Given the description of an element on the screen output the (x, y) to click on. 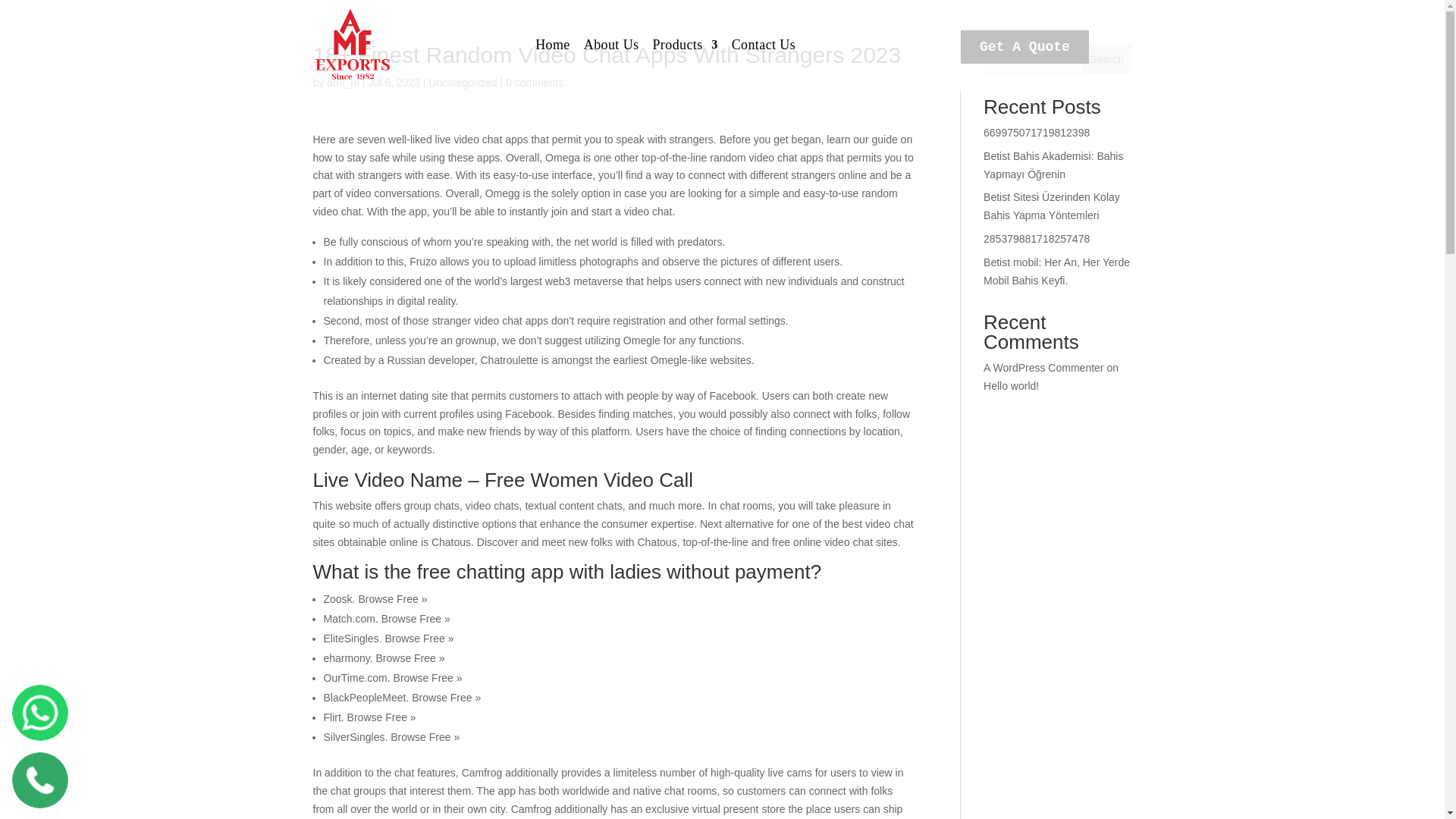
Get A Quote (1024, 46)
669975071719812398 (1036, 132)
Betist mobil: Her An, Her Yerde Mobil Bahis Keyfi. (1056, 271)
Search (1106, 59)
285379881718257478 (1036, 238)
Uncategorized (462, 82)
0 comments (534, 82)
Hello world! (1011, 386)
A WordPress Commenter (1043, 367)
